Given the description of an element on the screen output the (x, y) to click on. 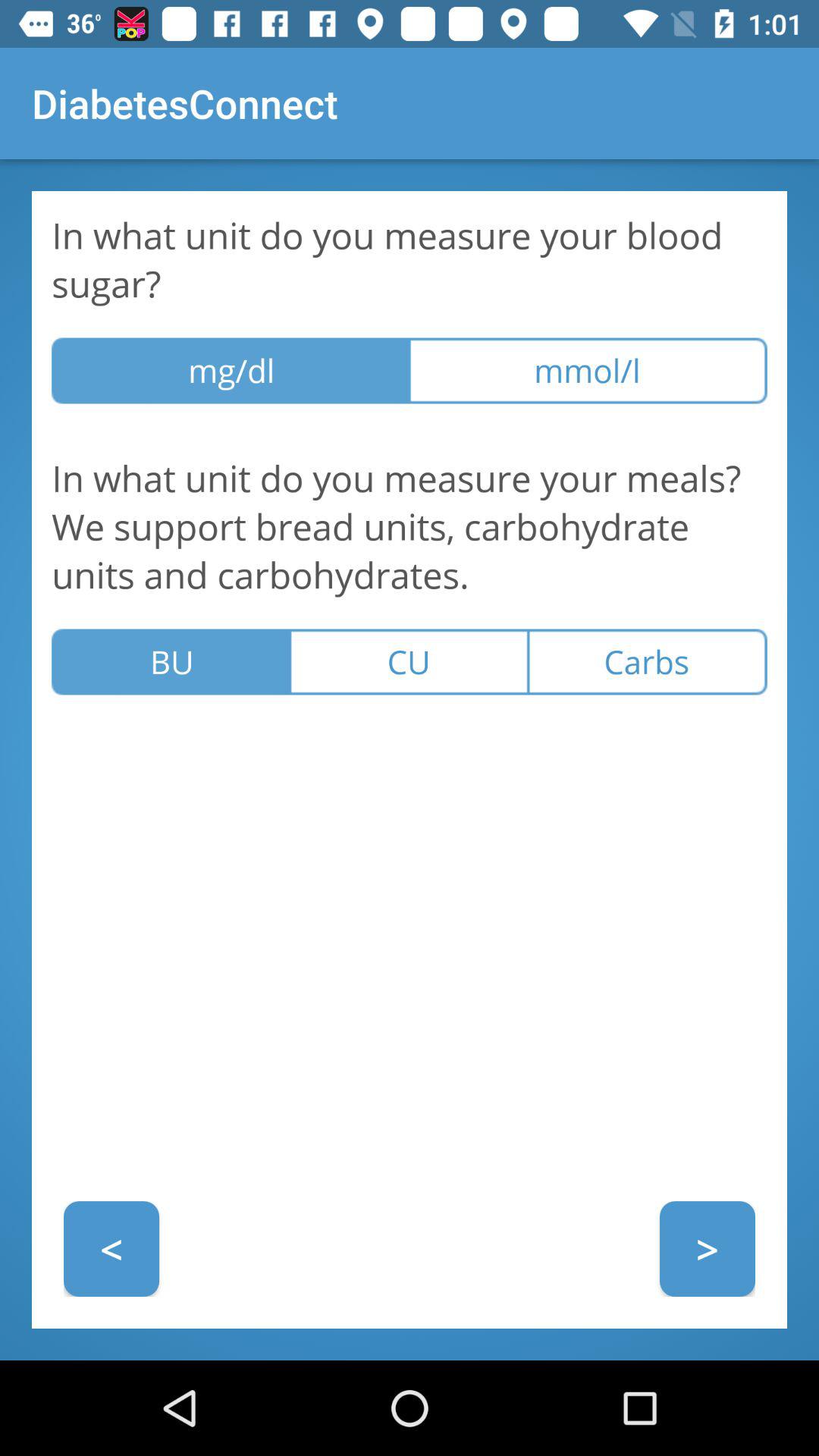
choose the icon to the right of the mg/dl icon (588, 370)
